Given the description of an element on the screen output the (x, y) to click on. 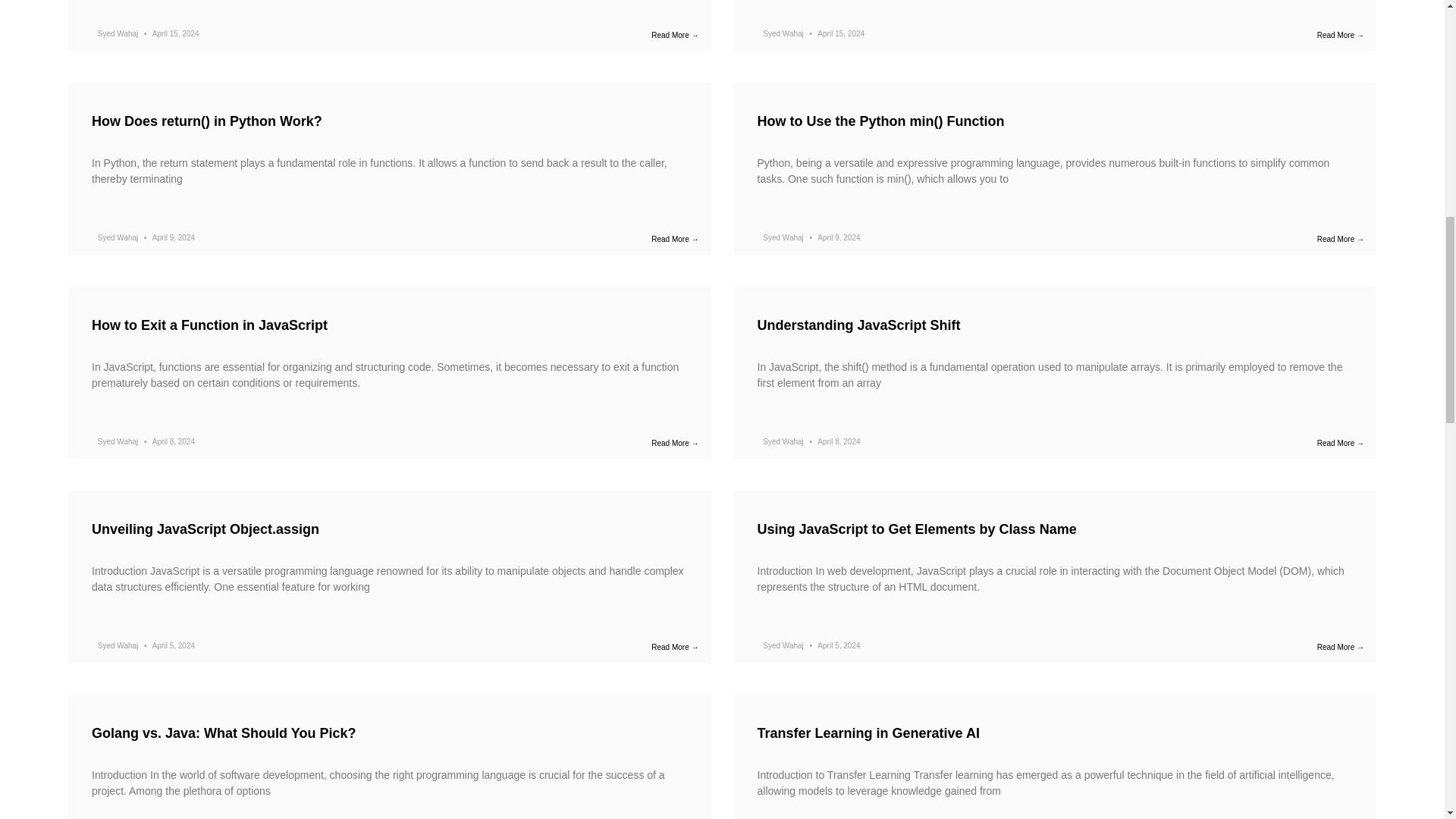
Unveiling JavaScript Object.assign (204, 529)
Transfer Learning in Generative AI (867, 733)
Golang vs. Java: What Should You Pick? (223, 733)
How to Exit a Function in JavaScript (209, 324)
Using JavaScript to Get Elements by Class Name (916, 529)
Understanding JavaScript Shift (858, 324)
